Given the description of an element on the screen output the (x, y) to click on. 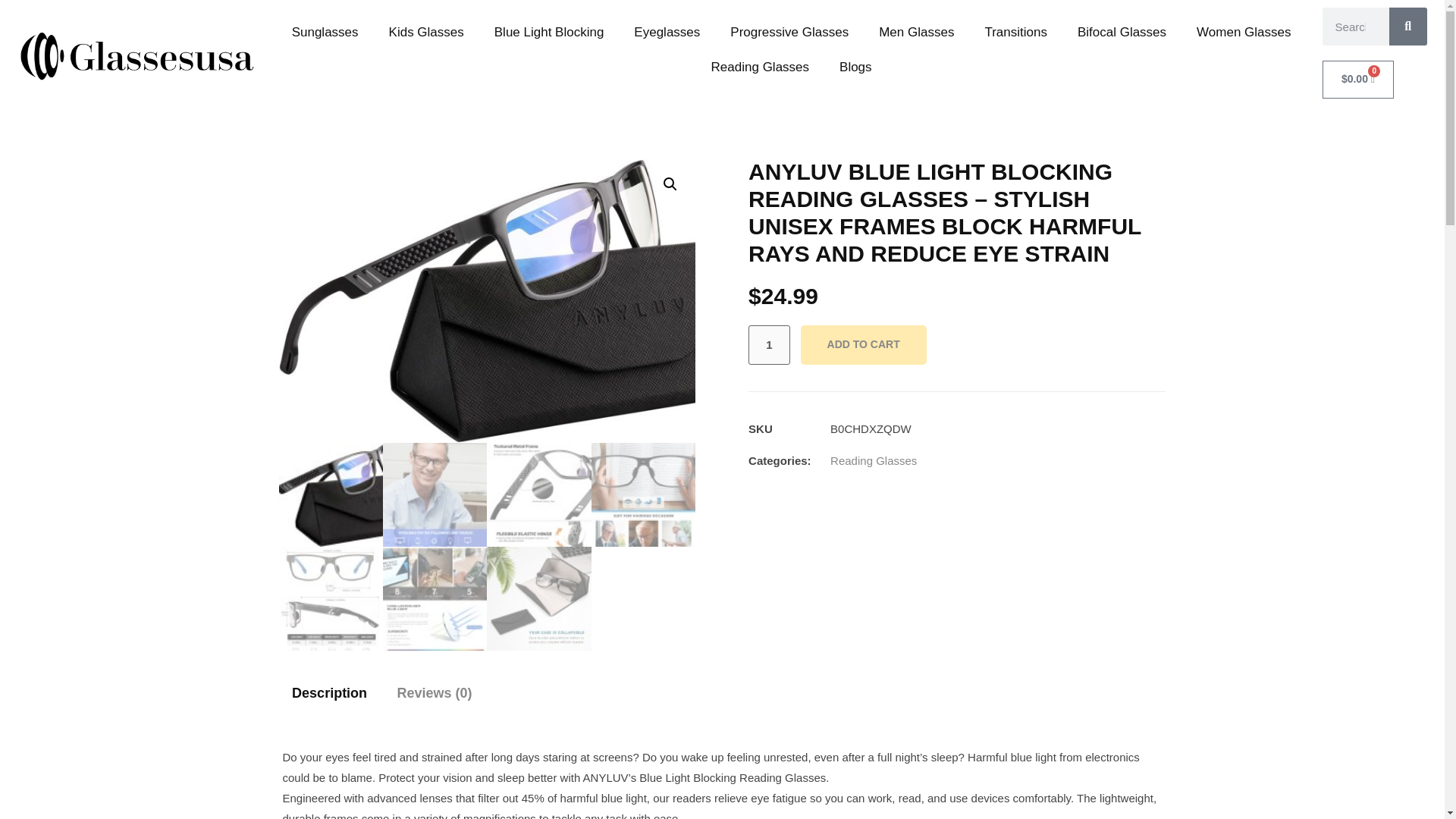
Blue Light Blocking (549, 32)
Women Glasses (1243, 32)
Reading Glasses (759, 67)
Eyeglasses (666, 32)
1 (768, 344)
Kids Glasses (426, 32)
Reading Glasses (873, 460)
Description (330, 693)
Transitions (1015, 32)
Men Glasses (916, 32)
